Given the description of an element on the screen output the (x, y) to click on. 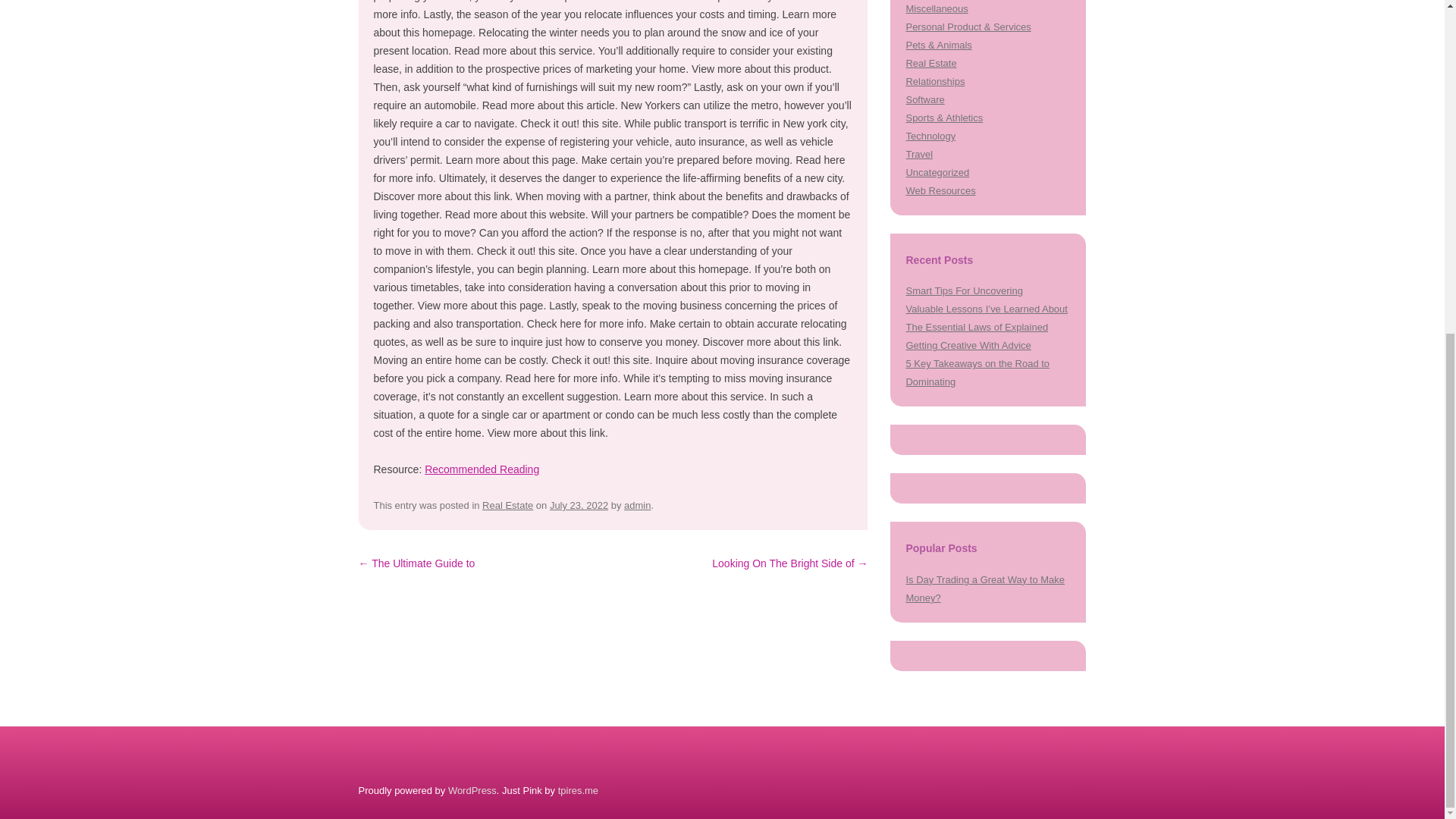
Uncategorized (937, 172)
Is Day Trading a Great Way to Make Money? (984, 588)
admin (637, 505)
Smart Tips For Uncovering (963, 290)
12:43 pm (579, 505)
Travel (919, 153)
Software (924, 99)
Web Resources (940, 190)
Real Estate (506, 505)
Miscellaneous (936, 8)
